Given the description of an element on the screen output the (x, y) to click on. 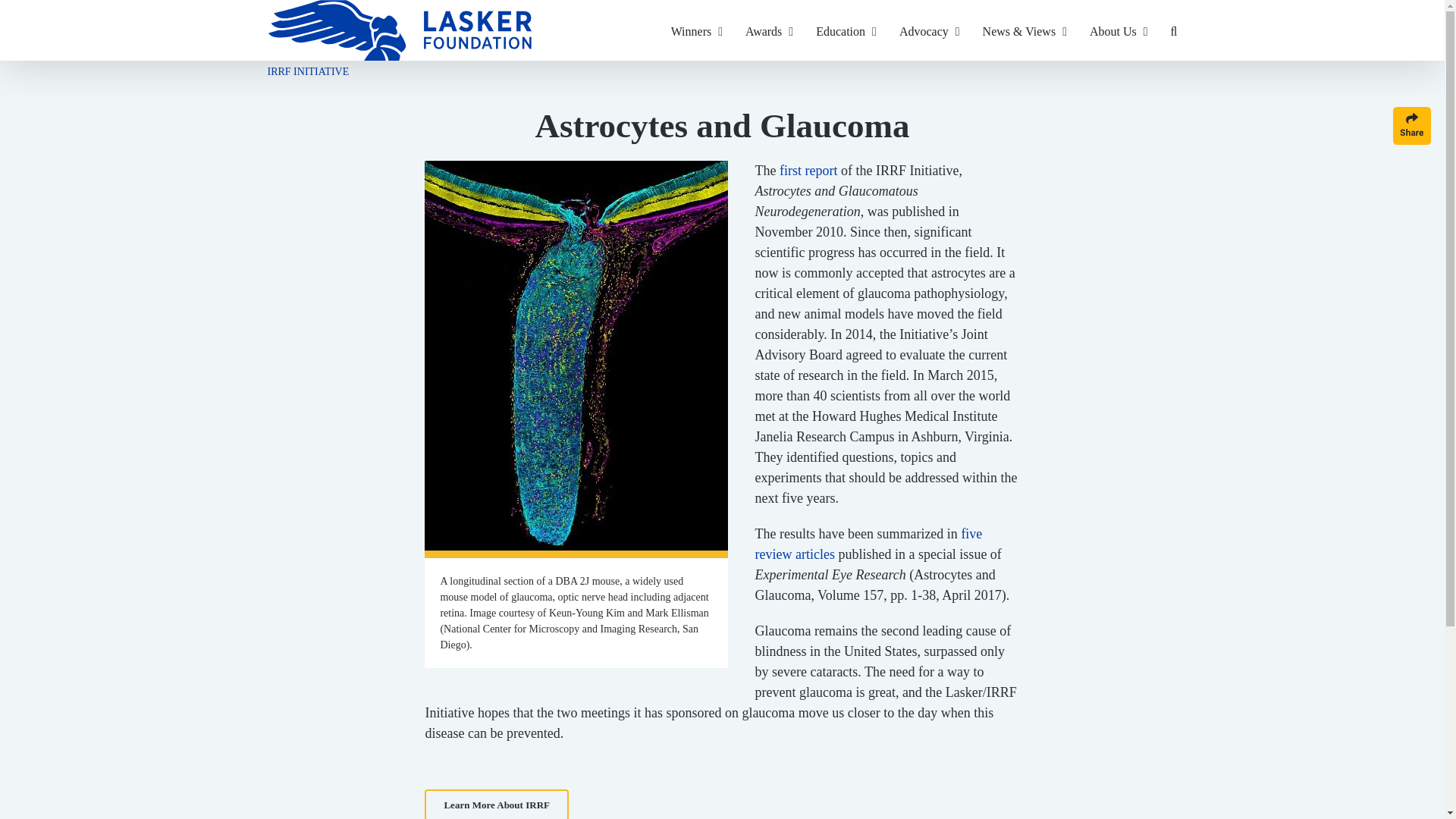
Education (845, 30)
About Us (1118, 30)
Advocacy (929, 30)
